Given the description of an element on the screen output the (x, y) to click on. 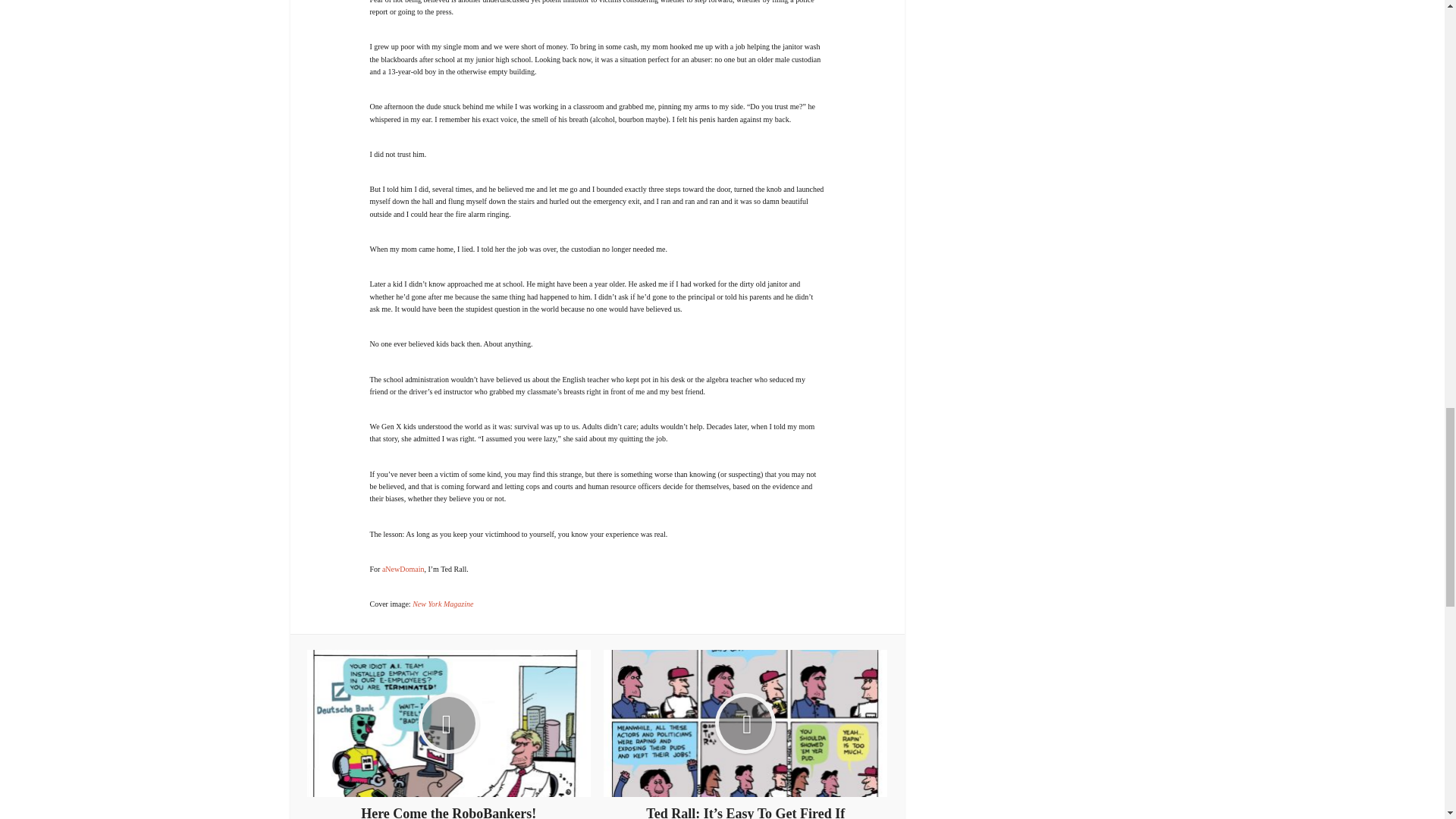
aNewDomain (403, 569)
New York Magazine (442, 603)
